Given the description of an element on the screen output the (x, y) to click on. 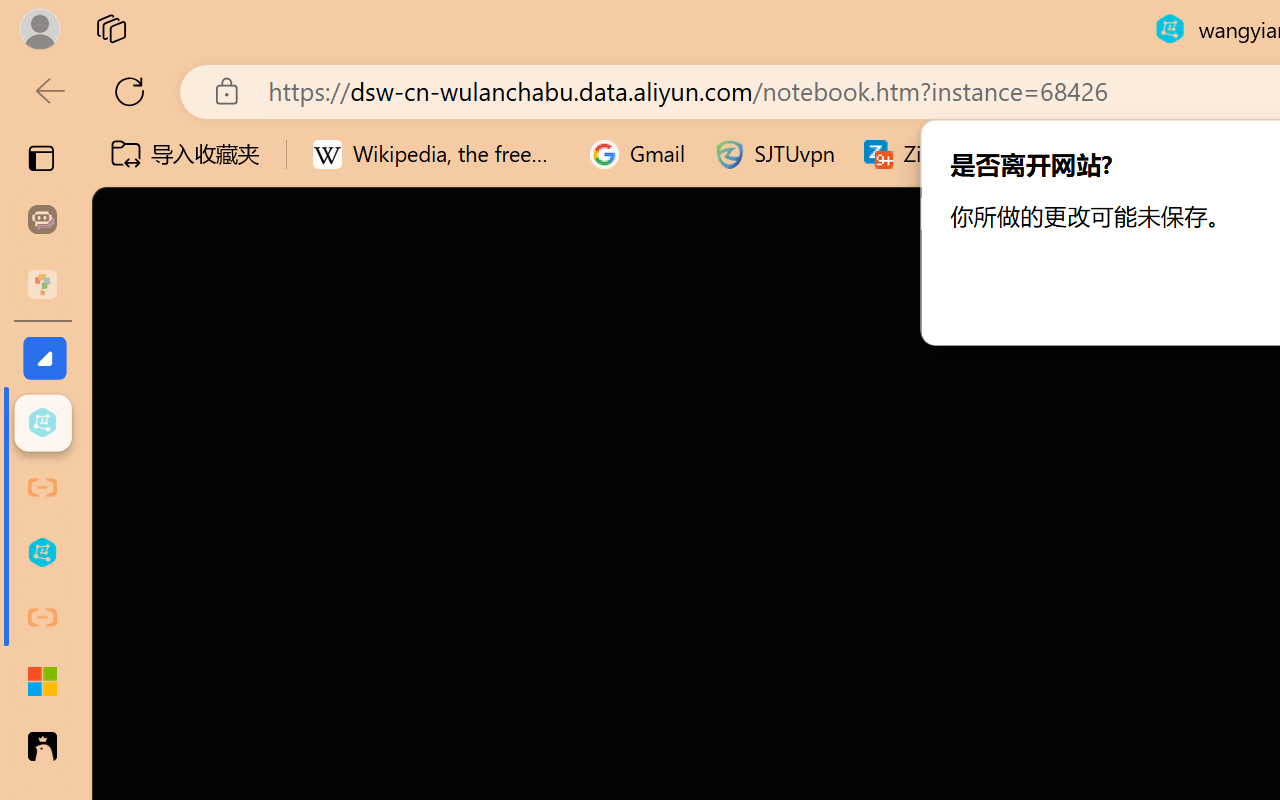
Gmail (637, 154)
Adjust indents and spacing - Microsoft Support (42, 681)
